Given the description of an element on the screen output the (x, y) to click on. 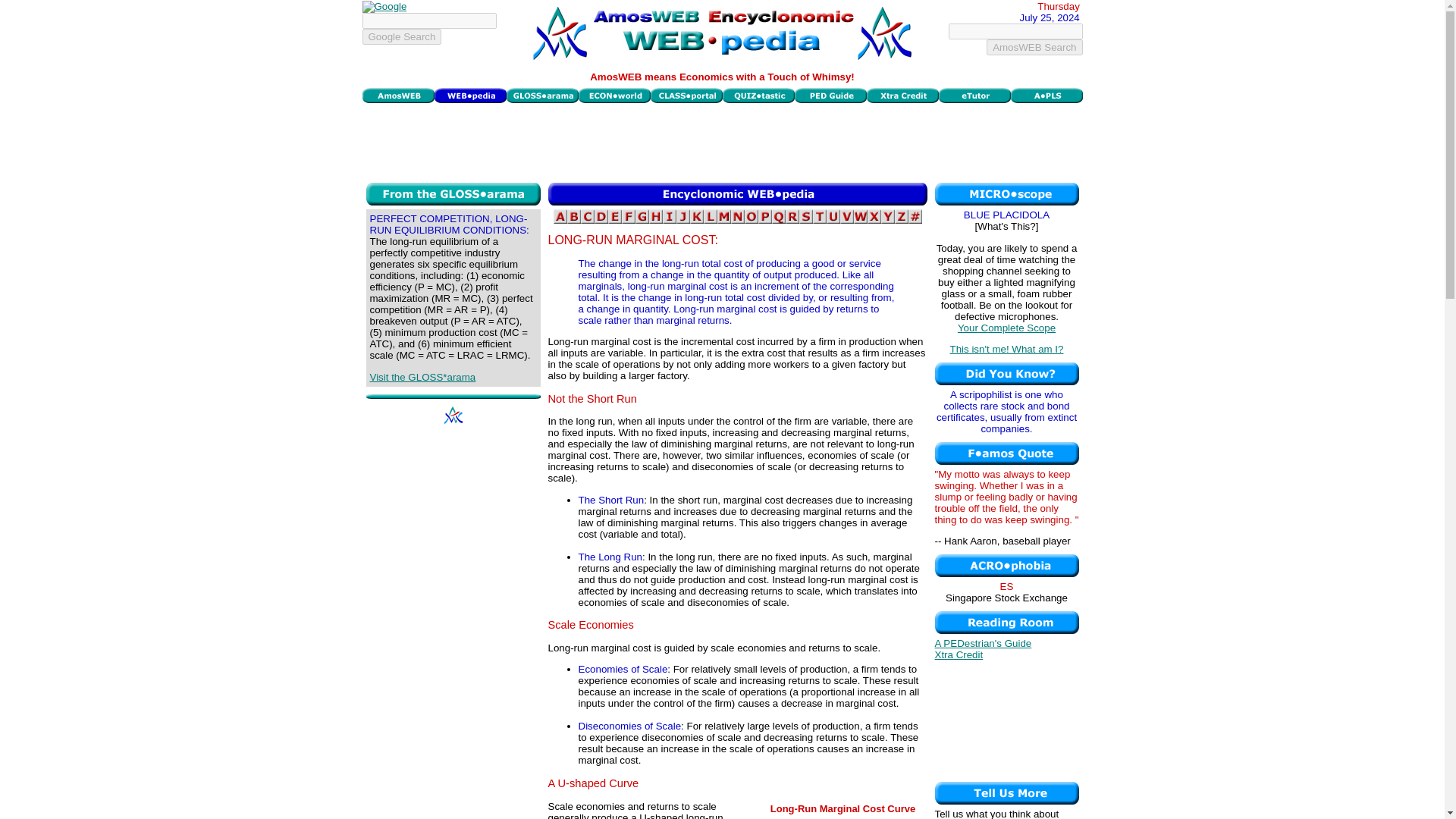
AmosWEB Search (1034, 47)
Google Search (402, 36)
AmosWEB Search (1034, 47)
Google Search (402, 36)
